Given the description of an element on the screen output the (x, y) to click on. 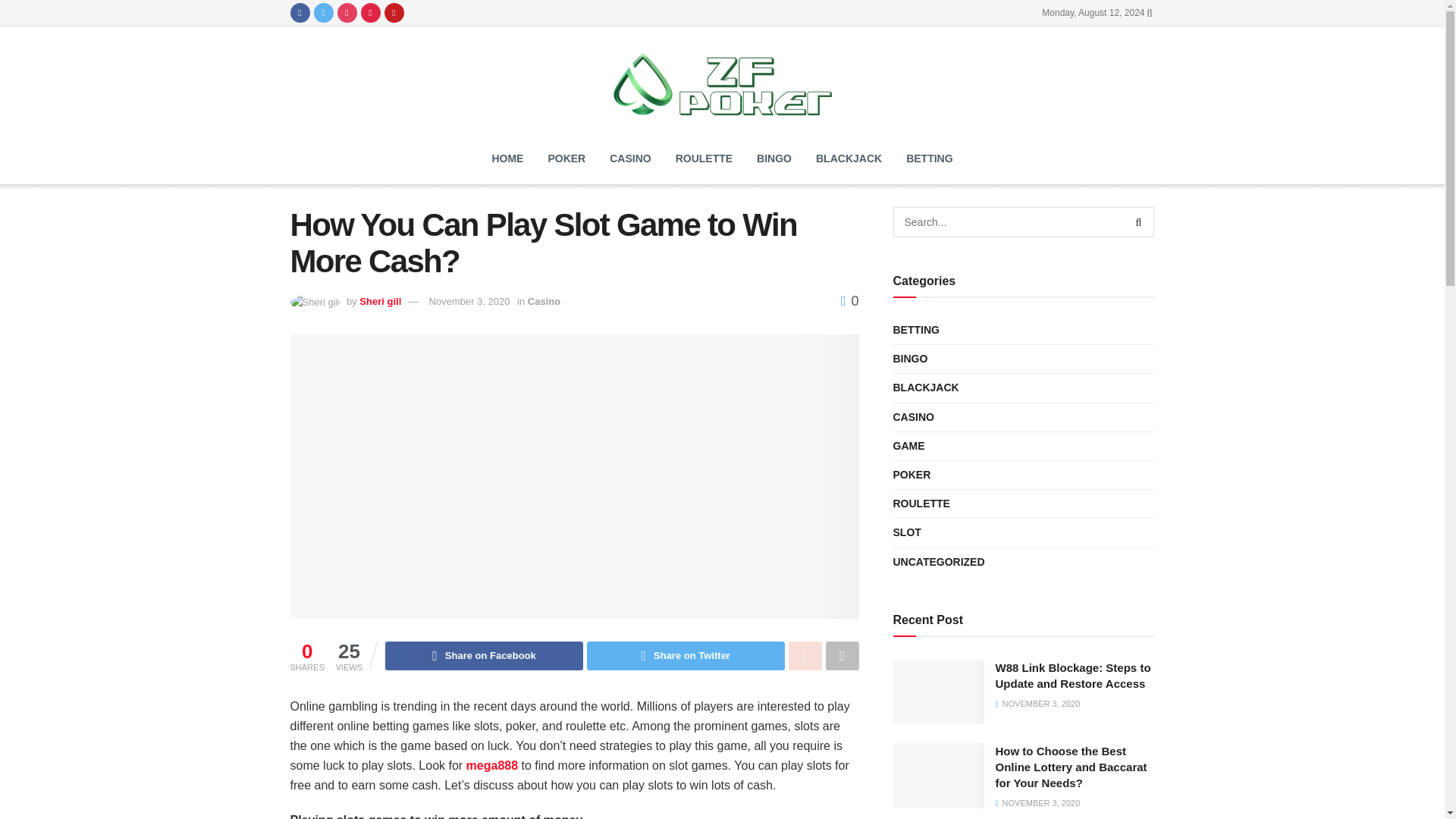
CASINO (629, 158)
BLACKJACK (848, 158)
0 (850, 300)
mega888 (491, 765)
BETTING (916, 330)
HOME (507, 158)
Sheri gill (380, 301)
Casino (543, 301)
Share on Twitter (685, 655)
November 3, 2020 (470, 301)
